Given the description of an element on the screen output the (x, y) to click on. 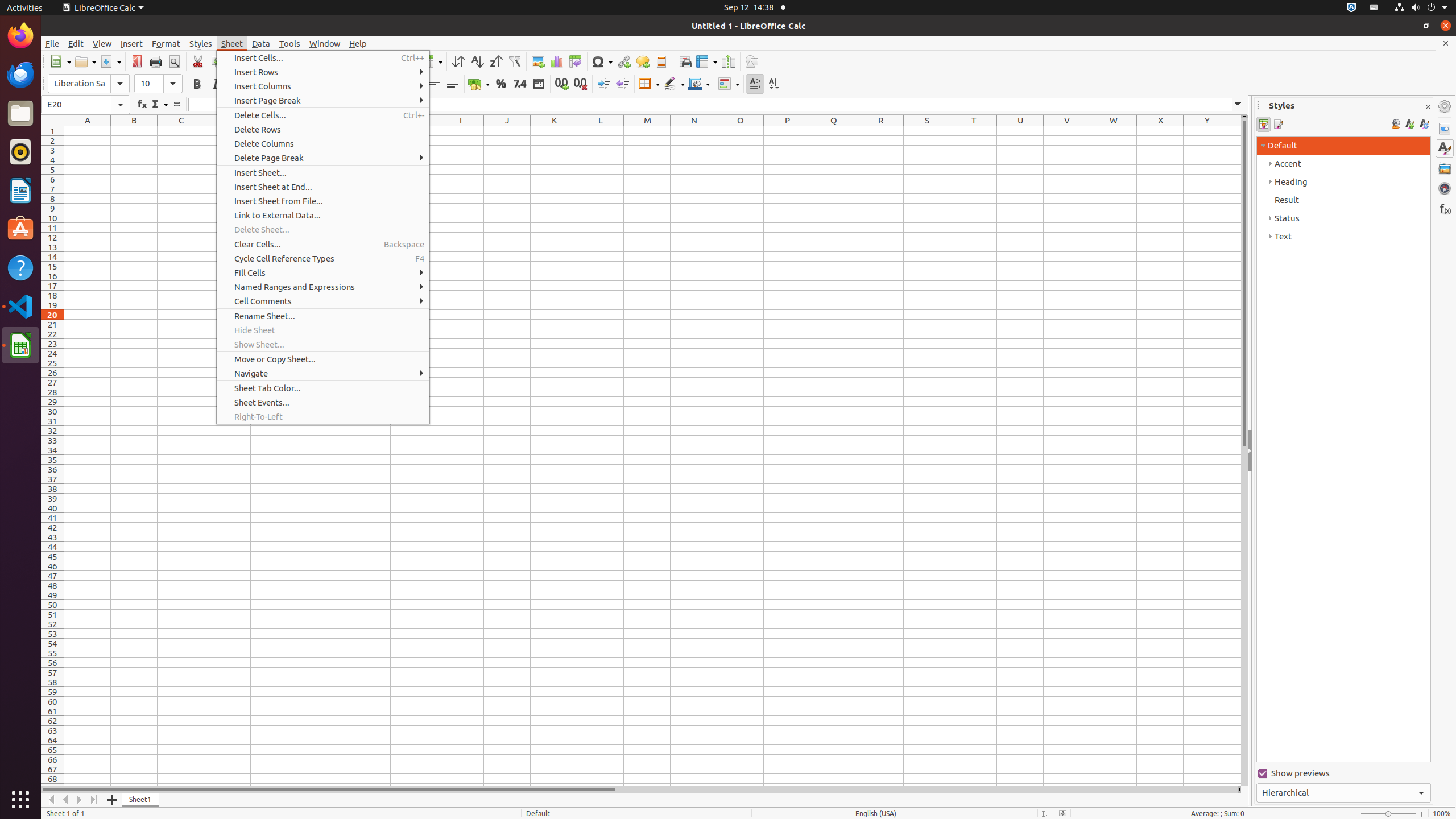
Borders (Shift to overwrite) Element type: push-button (648, 83)
Sort Descending Element type: push-button (495, 61)
Save Element type: push-button (109, 61)
Delete Rows Element type: menu-item (322, 129)
Date Element type: push-button (537, 83)
